Given the description of an element on the screen output the (x, y) to click on. 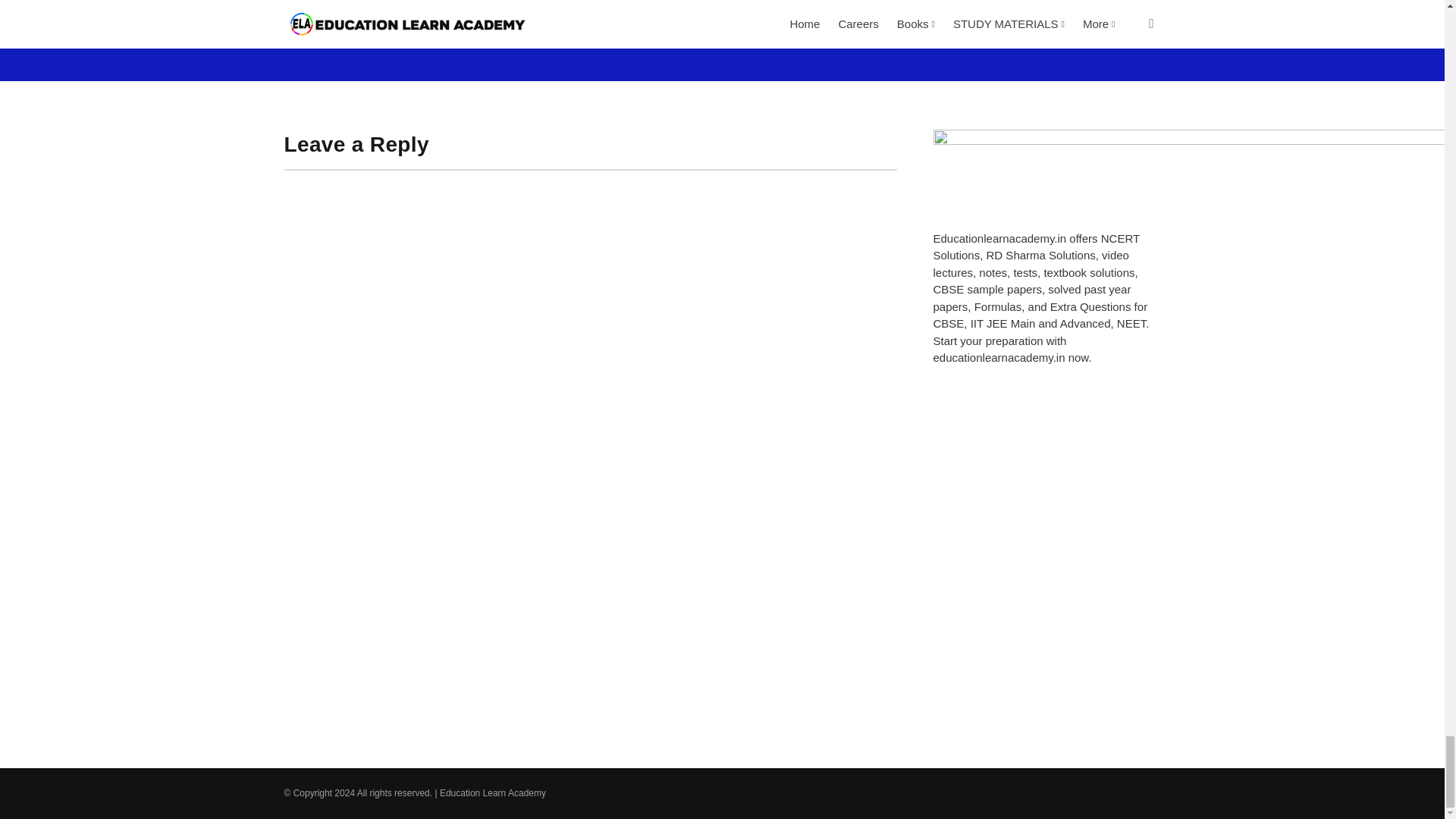
March 17, 2024 (1014, 10)
March 17, 2024 (788, 12)
